Given the description of an element on the screen output the (x, y) to click on. 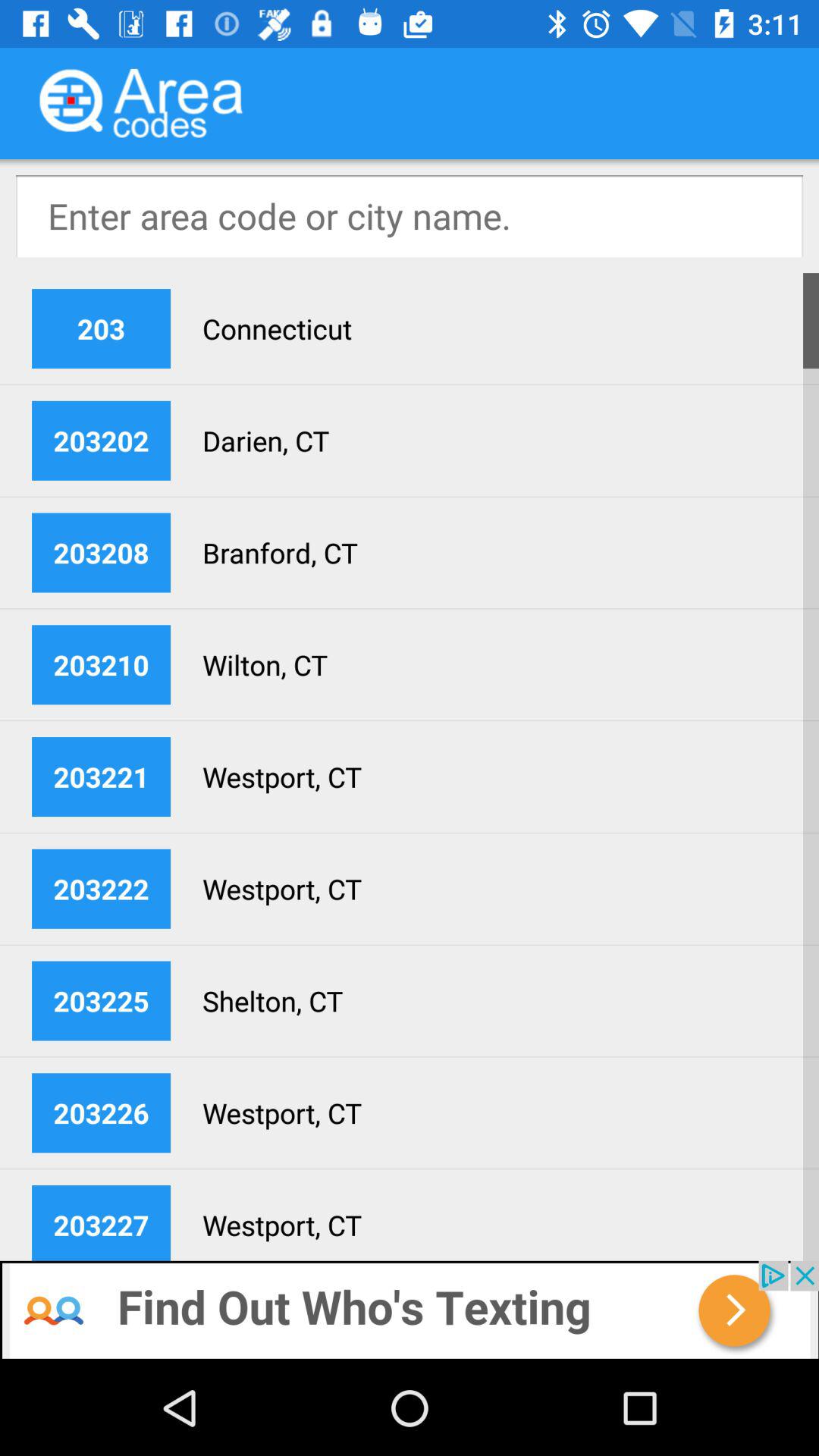
enter area code or city name (409, 216)
